Given the description of an element on the screen output the (x, y) to click on. 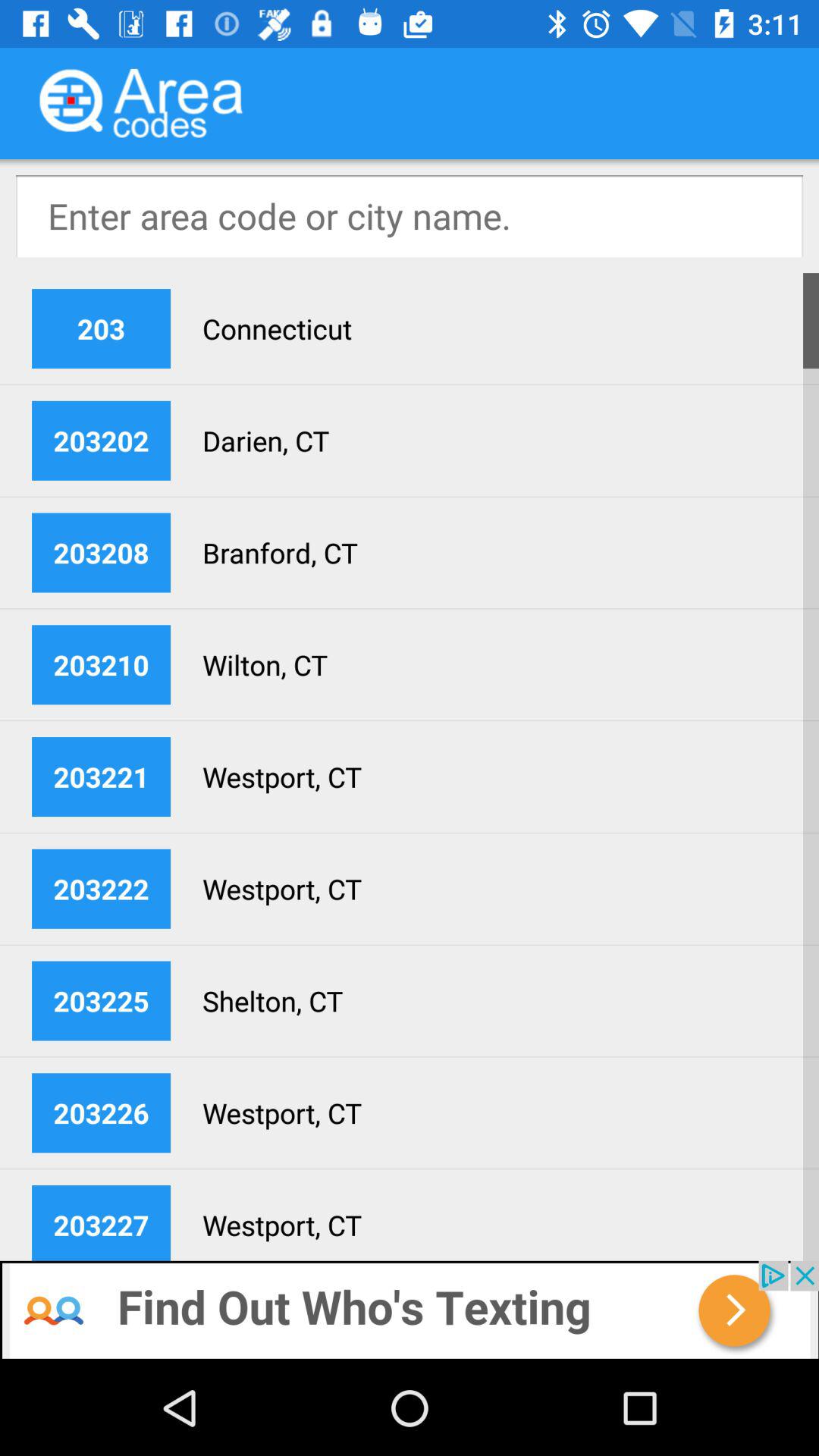
enter area code or city name (409, 216)
